Given the description of an element on the screen output the (x, y) to click on. 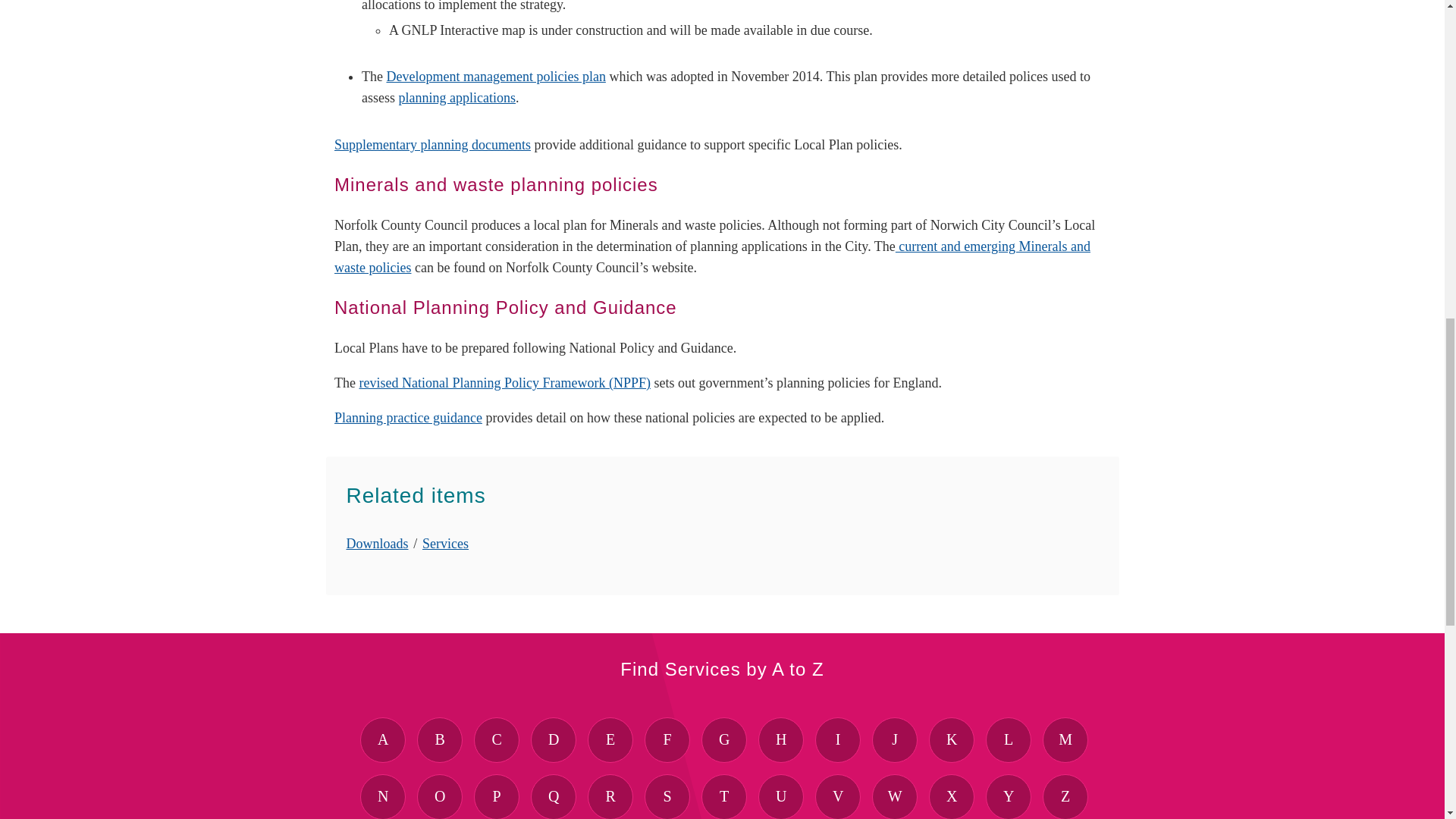
C (496, 739)
F (667, 739)
E (610, 739)
J (894, 739)
A (382, 739)
B (439, 739)
planning applications (456, 97)
Services (445, 543)
L (1007, 739)
I (837, 739)
